Given the description of an element on the screen output the (x, y) to click on. 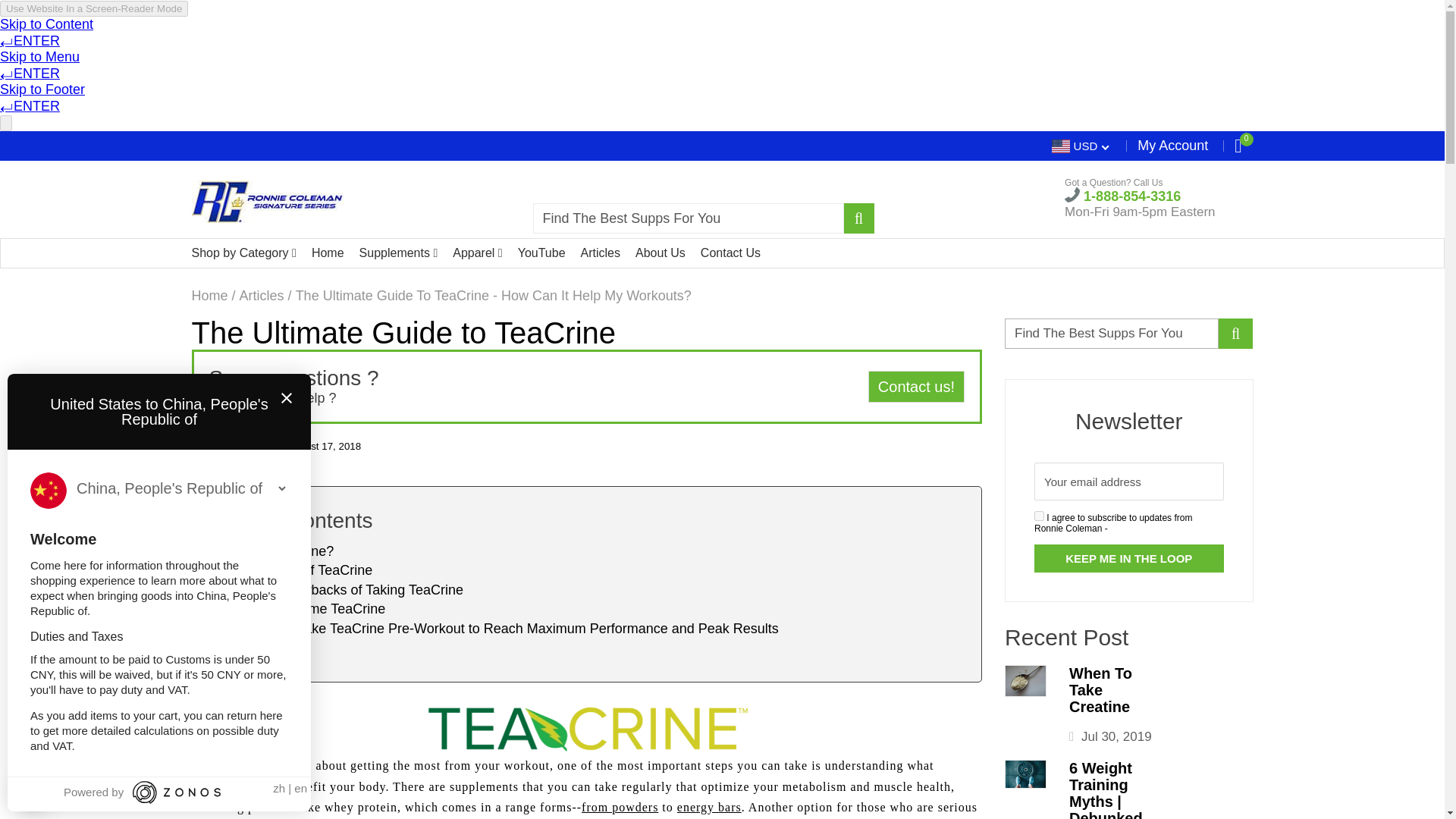
KEEP ME IN THE LOOP (1128, 558)
on (1038, 515)
Back to the home page (208, 295)
